Given the description of an element on the screen output the (x, y) to click on. 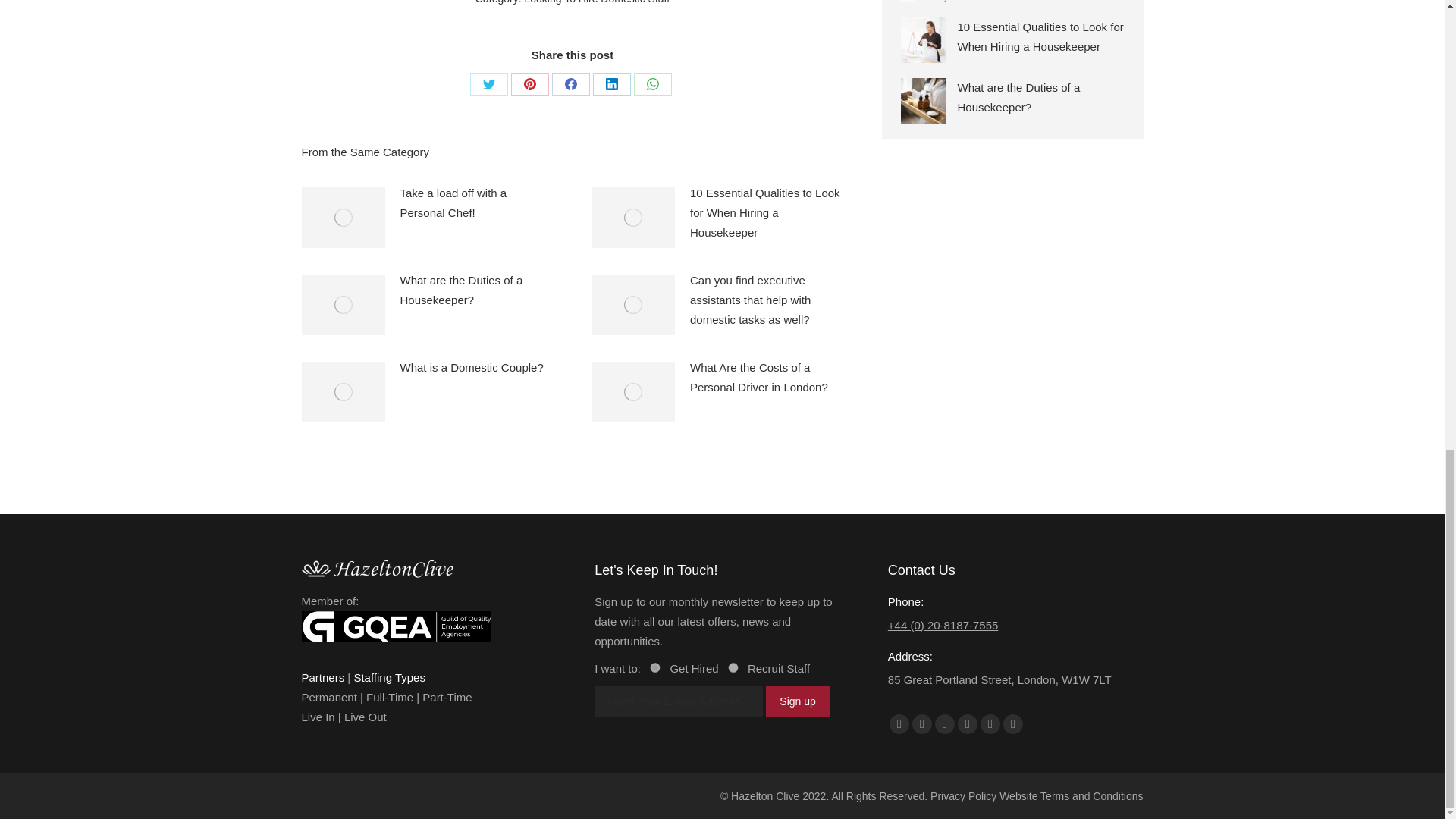
Sign up (796, 701)
RecruitPersonnel (733, 666)
FindAJob (654, 666)
